Given the description of an element on the screen output the (x, y) to click on. 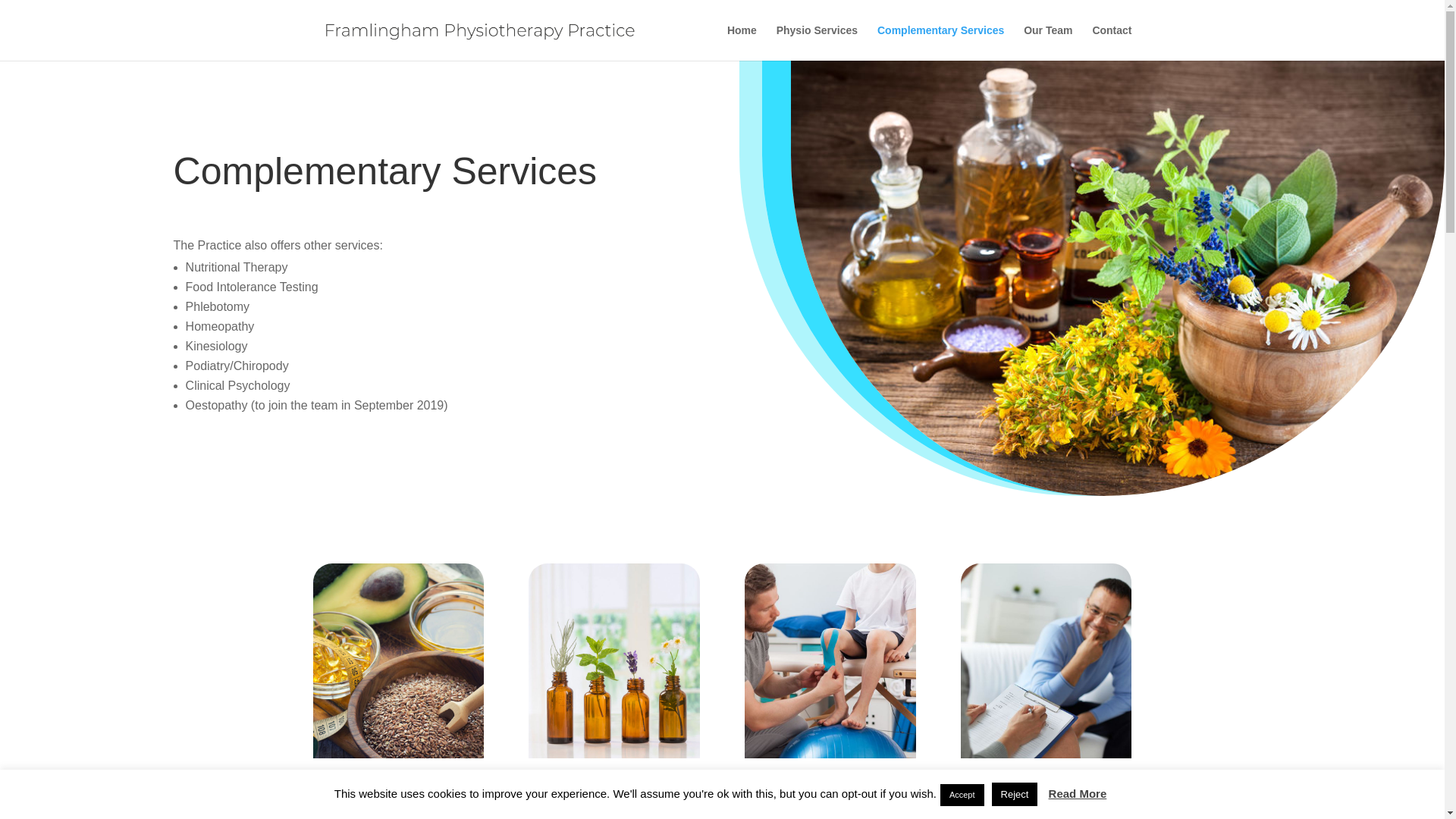
Our Team (1047, 42)
Physio Services (816, 42)
Complementary Services (940, 42)
Reject (1014, 793)
Accept (962, 794)
Contact (1111, 42)
Read More (1077, 793)
